Given the description of an element on the screen output the (x, y) to click on. 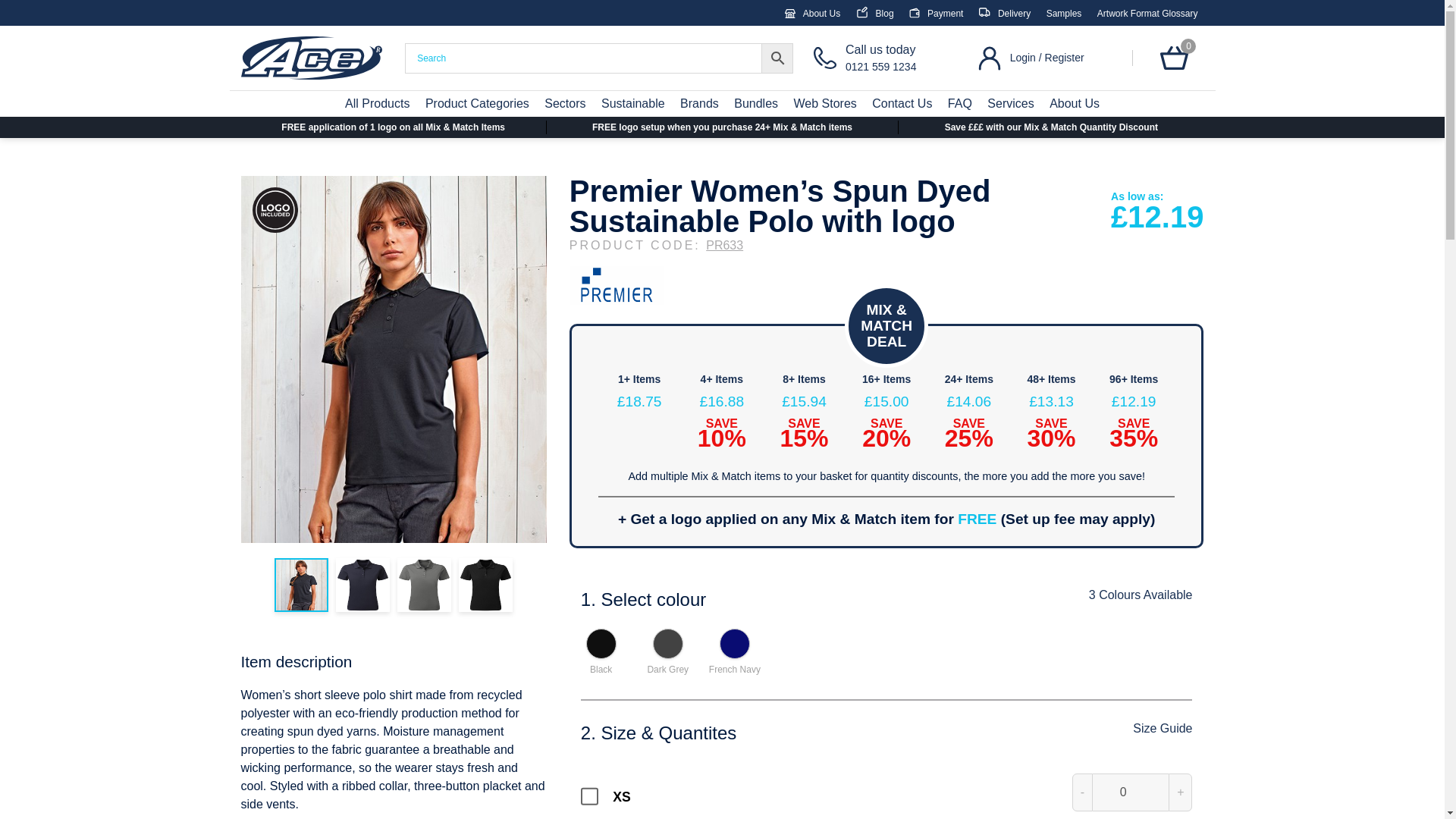
All Products (377, 103)
Samples (887, 57)
About Us (1063, 13)
Payment (812, 13)
Artwork Format Glossary (935, 13)
Delivery (1147, 13)
Blog (1004, 13)
0 (874, 13)
